Given the description of an element on the screen output the (x, y) to click on. 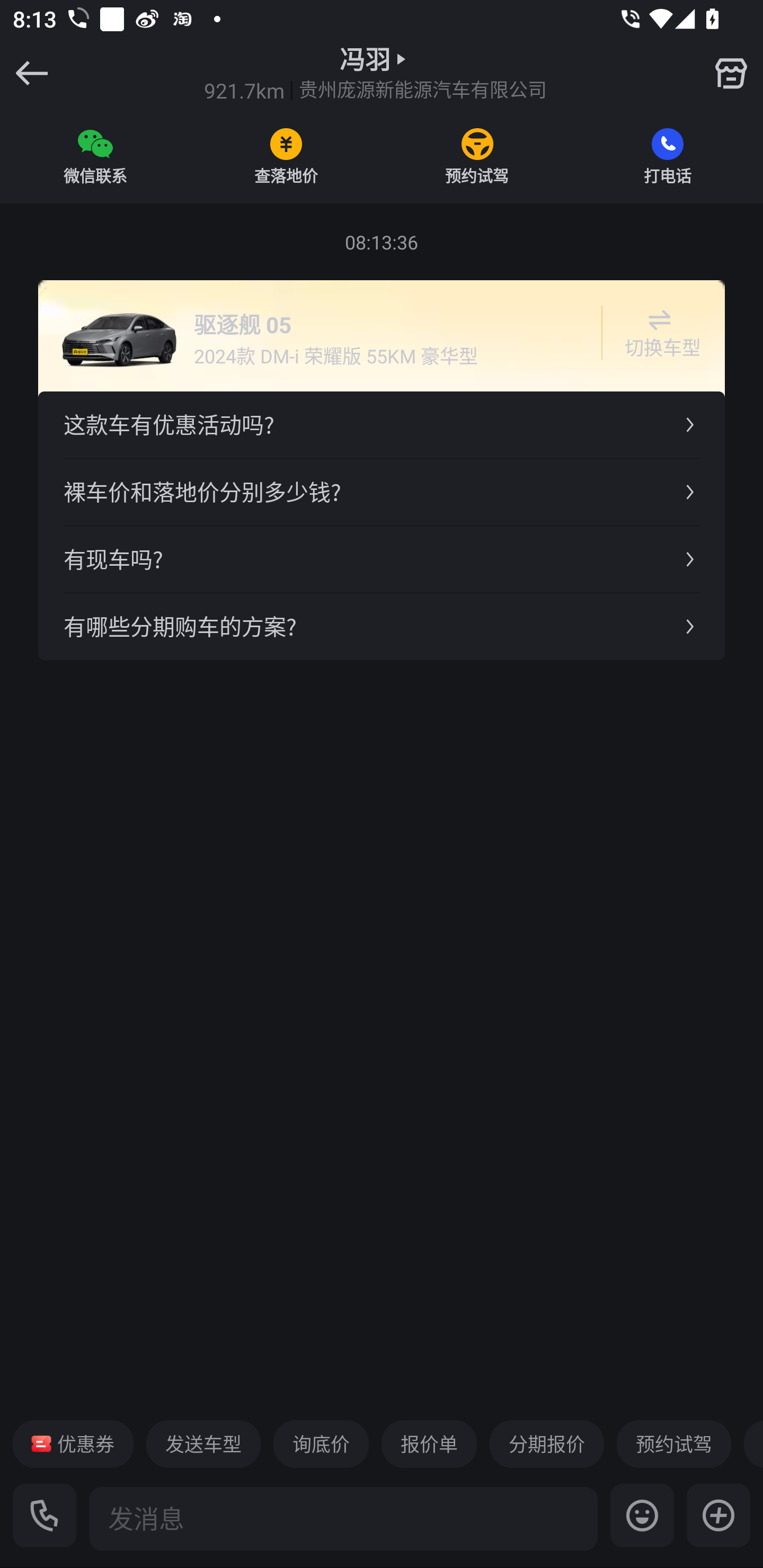
冯羽 921.7km 贵州庞源新能源汽车有限公司 (374, 73)
 (730, 73)
微信联系 (95, 155)
查落地价 (285, 155)
预约试驾 (476, 155)
打电话 (667, 155)
切换车型 (659, 332)
这款车有优惠活动吗? (381, 424)
裸车价和落地价分别多少钱? (381, 492)
有现车吗? (381, 558)
有哪些分期购车的方案? (381, 626)
优惠券 (72, 1443)
发送车型 (203, 1443)
询底价 (320, 1443)
报价单 (428, 1443)
分期报价 (546, 1443)
预约试驾 (673, 1443)
 (718, 1515)
发消息 (343, 1518)
